Given the description of an element on the screen output the (x, y) to click on. 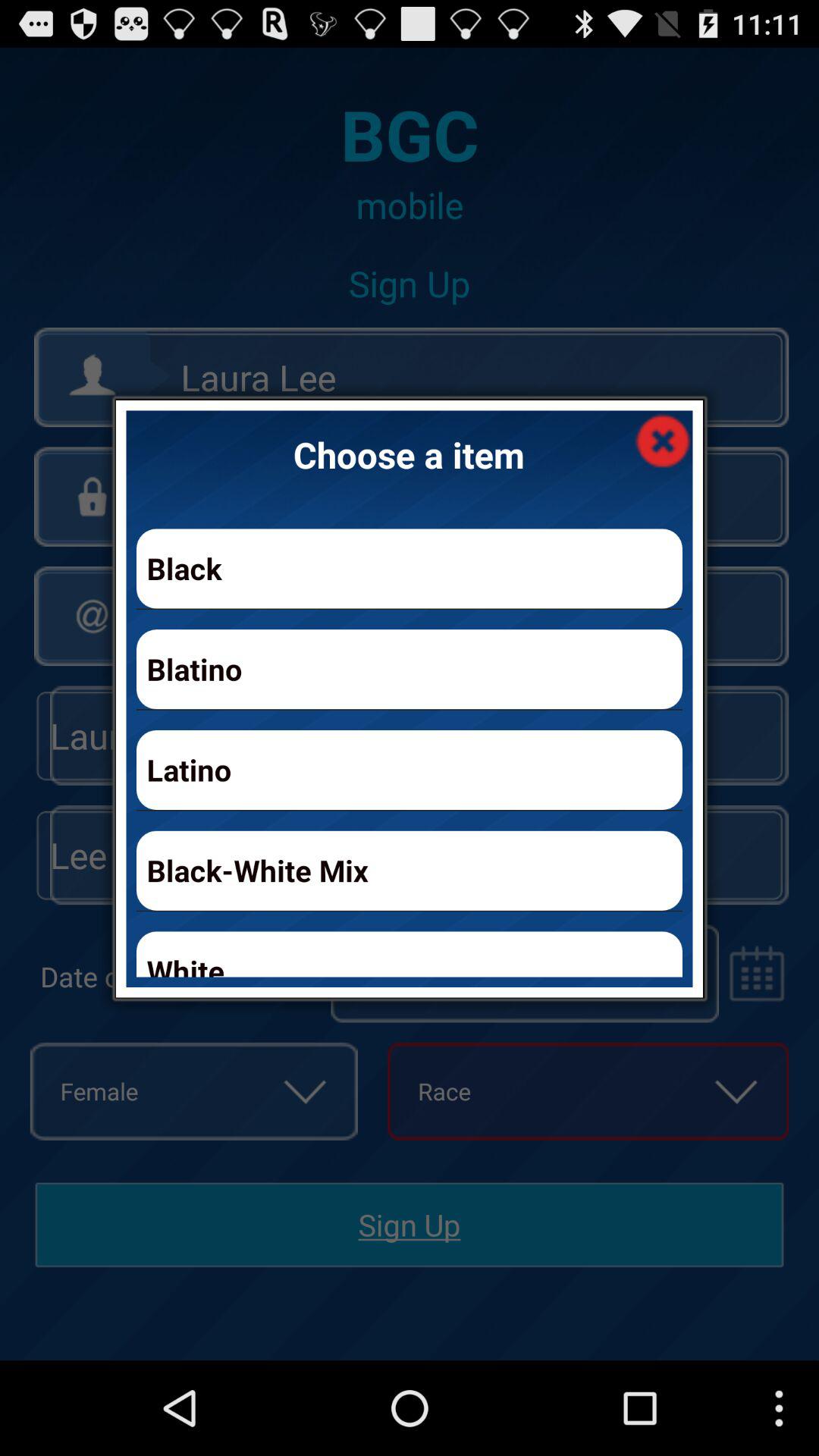
tap icon to the right of the choose a item (662, 440)
